Given the description of an element on the screen output the (x, y) to click on. 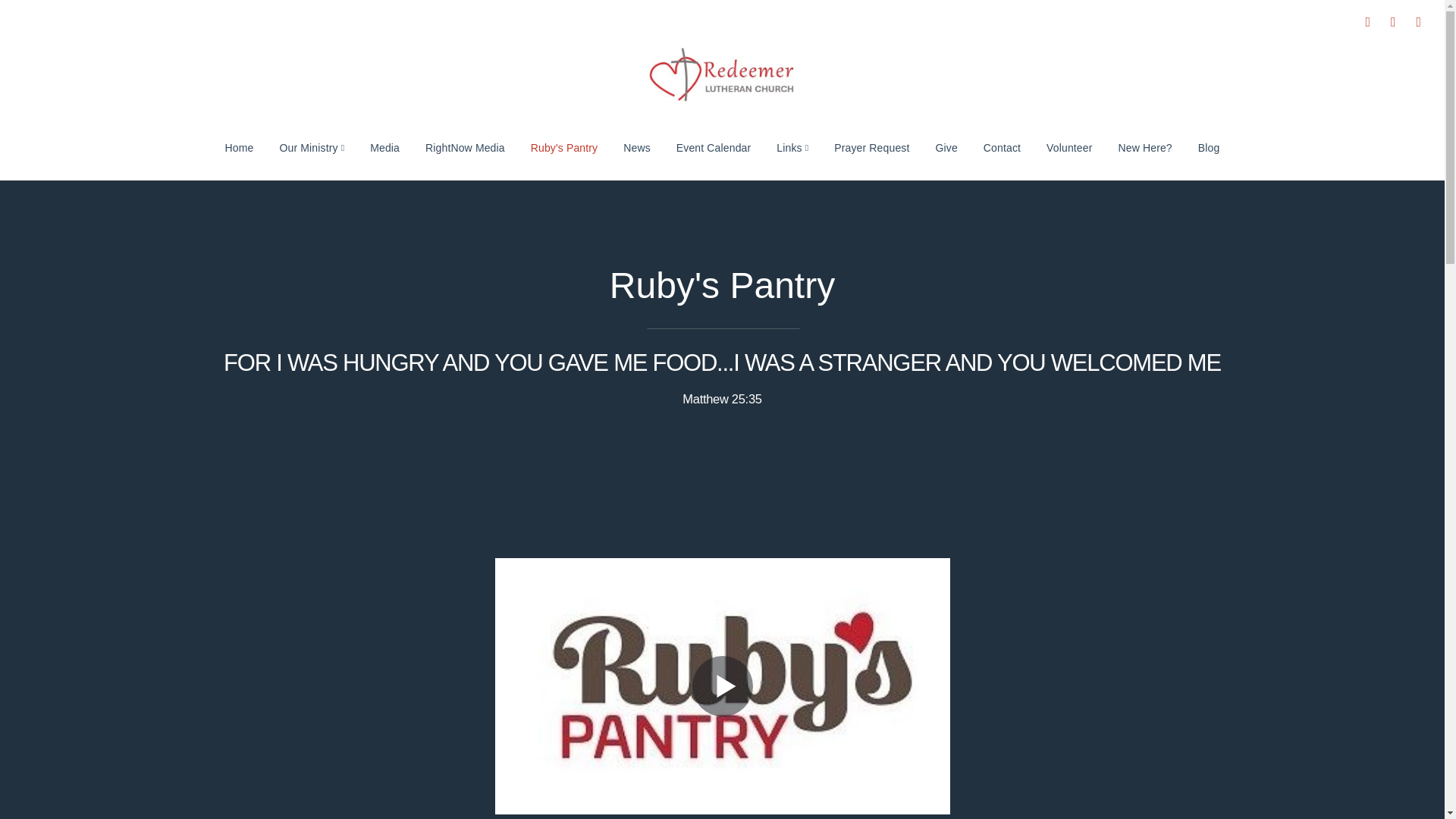
Media (384, 147)
Volunteer (1069, 147)
Contact (1002, 147)
Event Calendar (713, 147)
News (636, 147)
New Here? (1144, 147)
Give (945, 147)
Prayer Request (871, 147)
RightNow Media (464, 147)
Ruby's Pantry (564, 147)
Blog (1208, 147)
Links  (792, 147)
Home (239, 147)
Our Ministry  (311, 147)
